Given the description of an element on the screen output the (x, y) to click on. 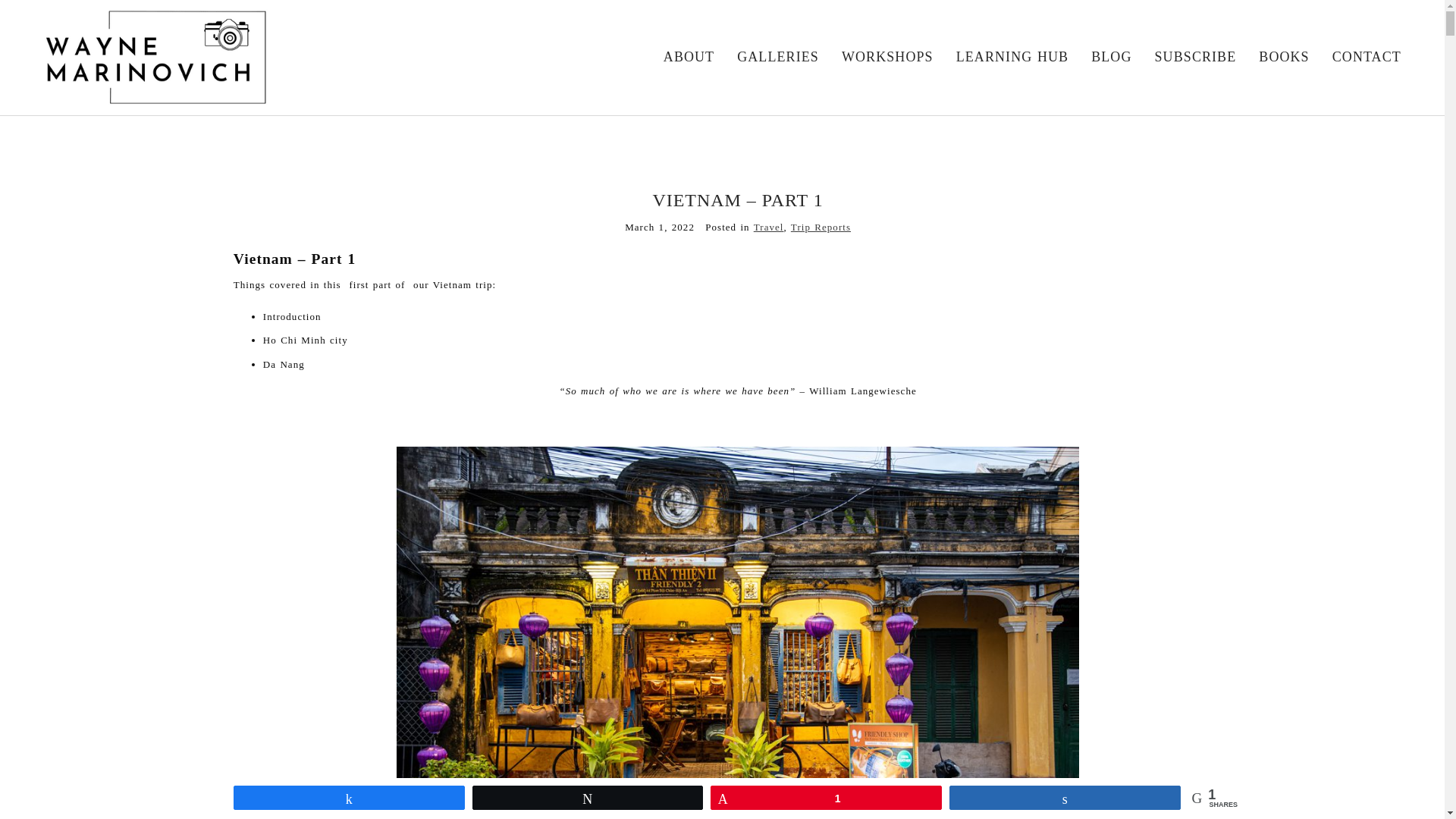
Travel (769, 226)
SUBSCRIBE (1195, 56)
Trip Reports (820, 226)
BLOG (1110, 56)
WORKSHOPS (887, 56)
ABOUT (688, 56)
CONTACT (1366, 56)
BOOKS (1283, 56)
GALLERIES (777, 56)
LEARNING HUB (1012, 56)
